Given the description of an element on the screen output the (x, y) to click on. 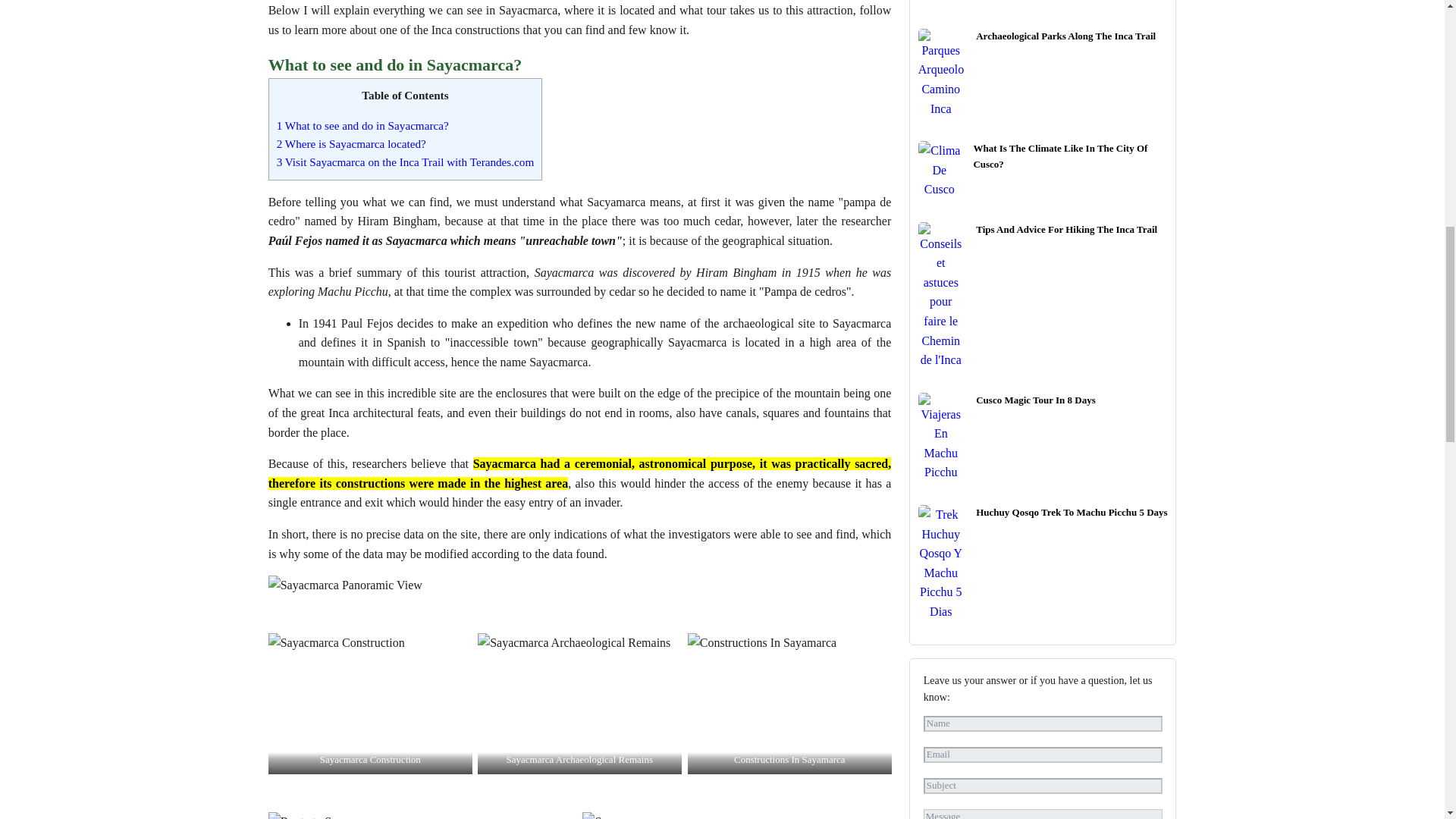
Sayacmarca archaeological site (344, 585)
Sayacmarca archaeological site (369, 703)
Sayacmarca archaeological site (579, 703)
Sayacmarca archaeological site (789, 703)
Sayacmarca archaeological site (421, 815)
Sayacmarca archaeological site (736, 815)
